Given the description of an element on the screen output the (x, y) to click on. 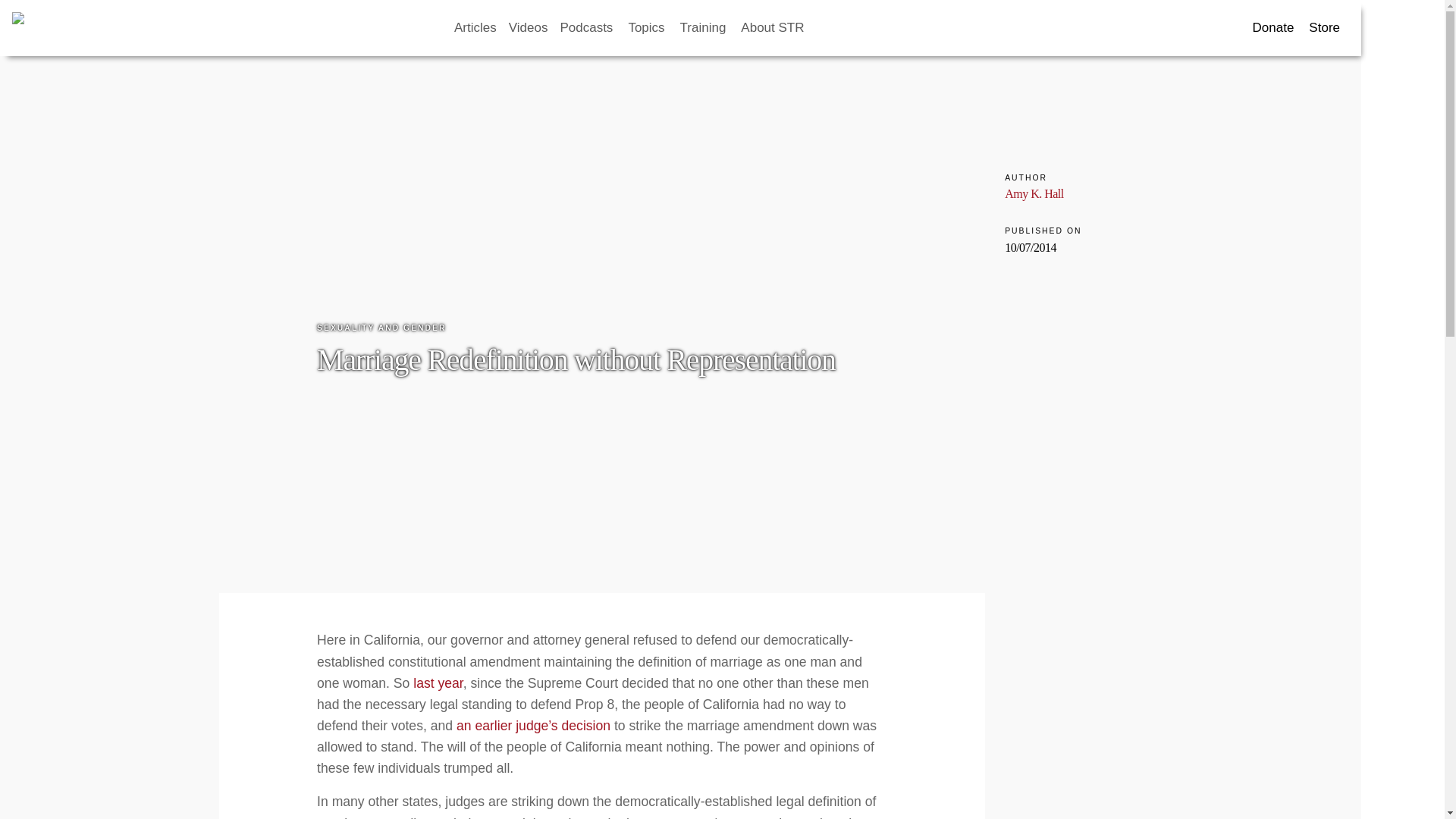
Training (768, 28)
Podcasts (628, 28)
Videos (563, 28)
Articles (510, 28)
About STR (848, 28)
Topics (700, 28)
